Given the description of an element on the screen output the (x, y) to click on. 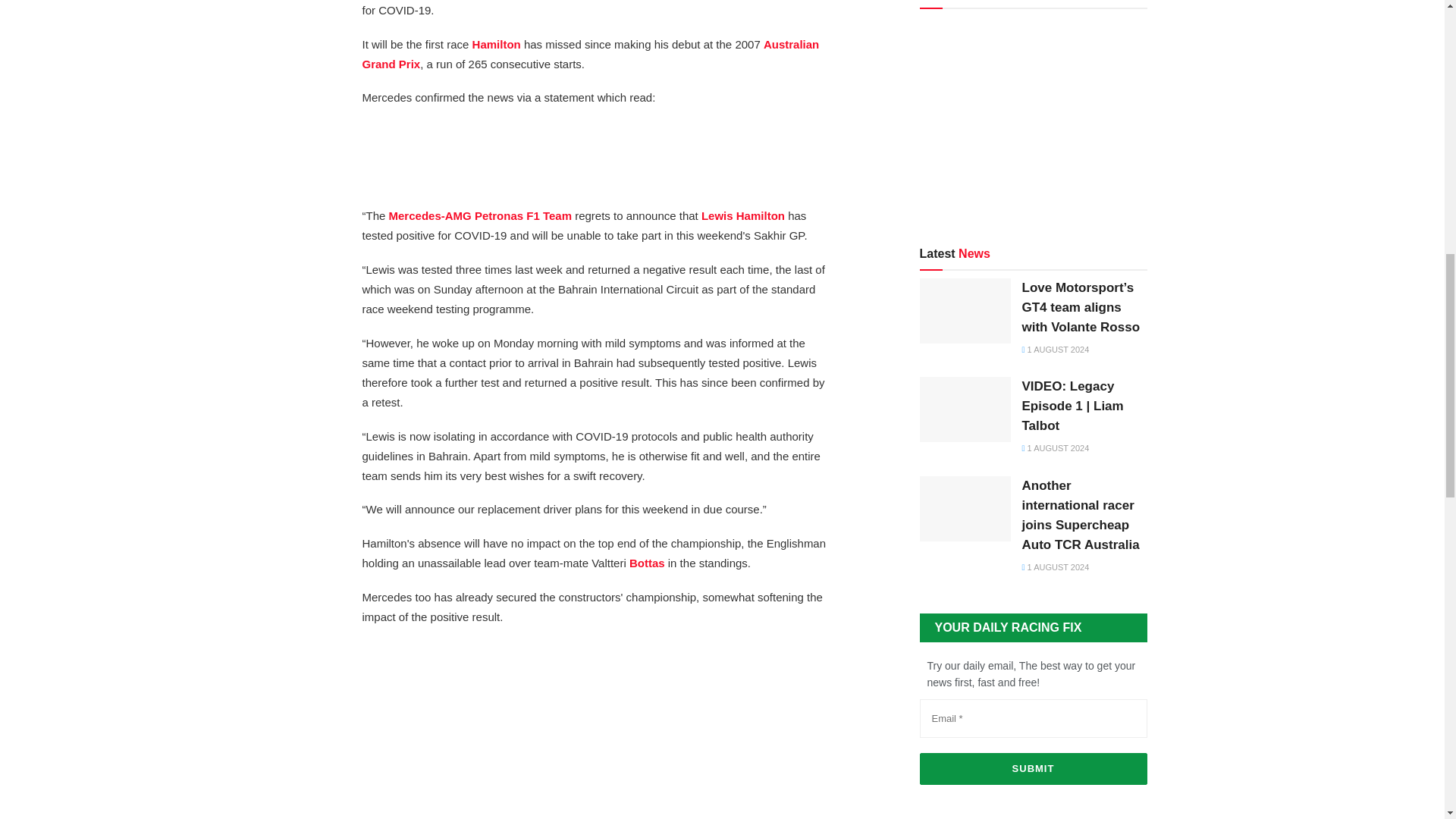
SUBMIT (1032, 768)
